Given the description of an element on the screen output the (x, y) to click on. 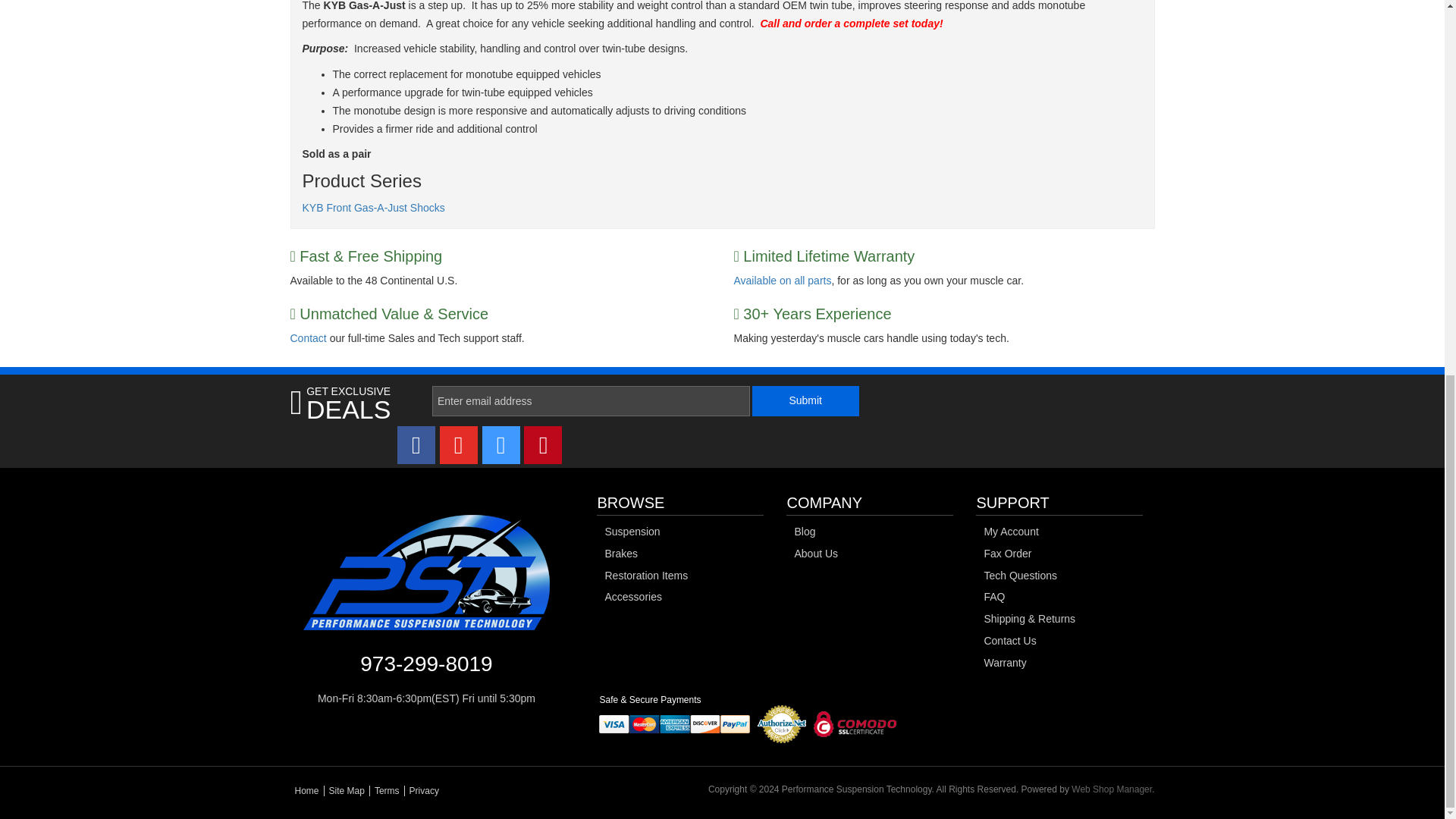
Enter email address (590, 400)
Submit (805, 400)
